Given the description of an element on the screen output the (x, y) to click on. 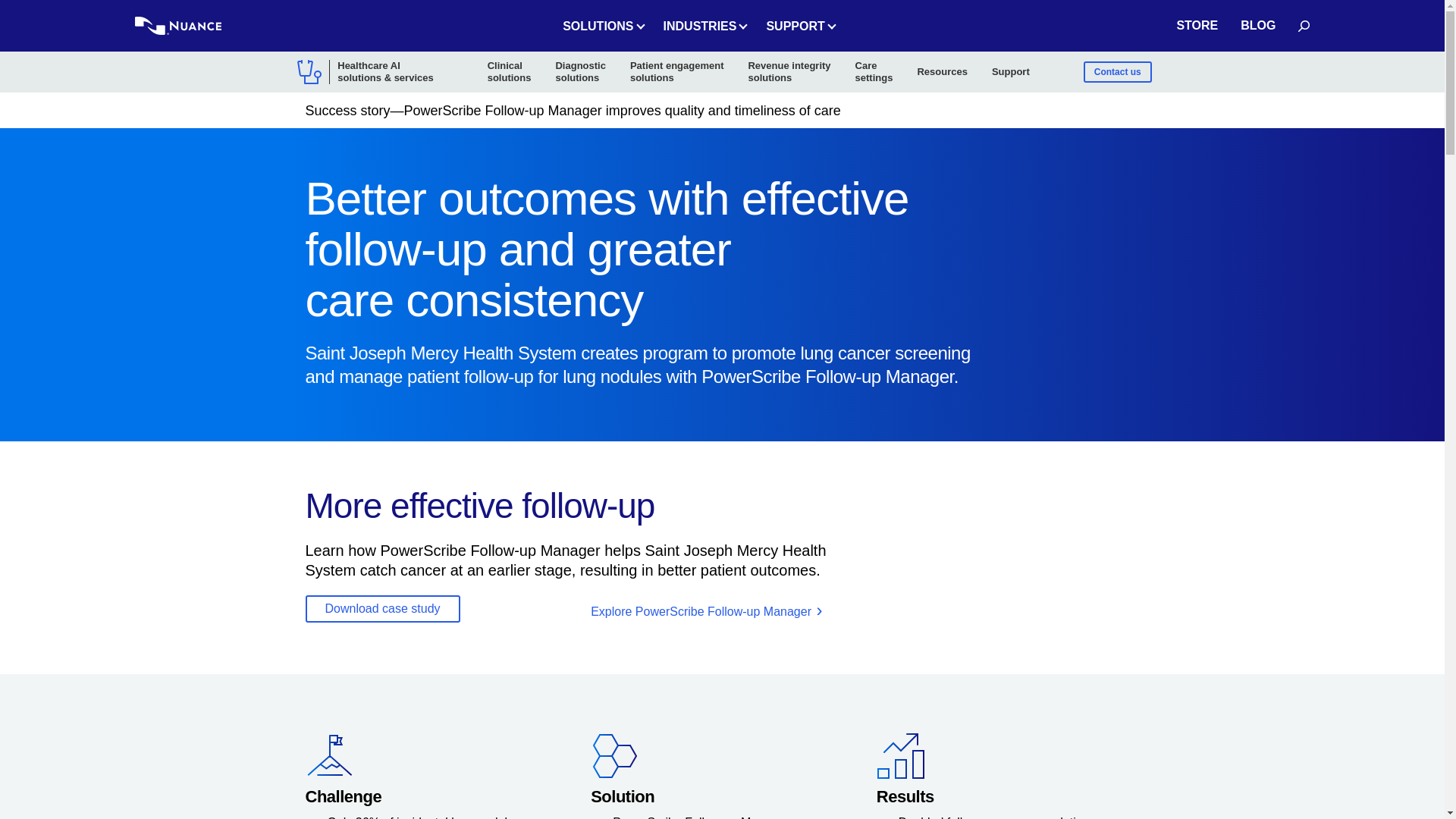
molecule-40 (615, 756)
Open Search (1303, 25)
mountain-flag (509, 71)
chart-bar-33 (328, 756)
SOLUTIONS (900, 756)
INDUSTRIES (600, 25)
SUPPORT (702, 25)
